Given the description of an element on the screen output the (x, y) to click on. 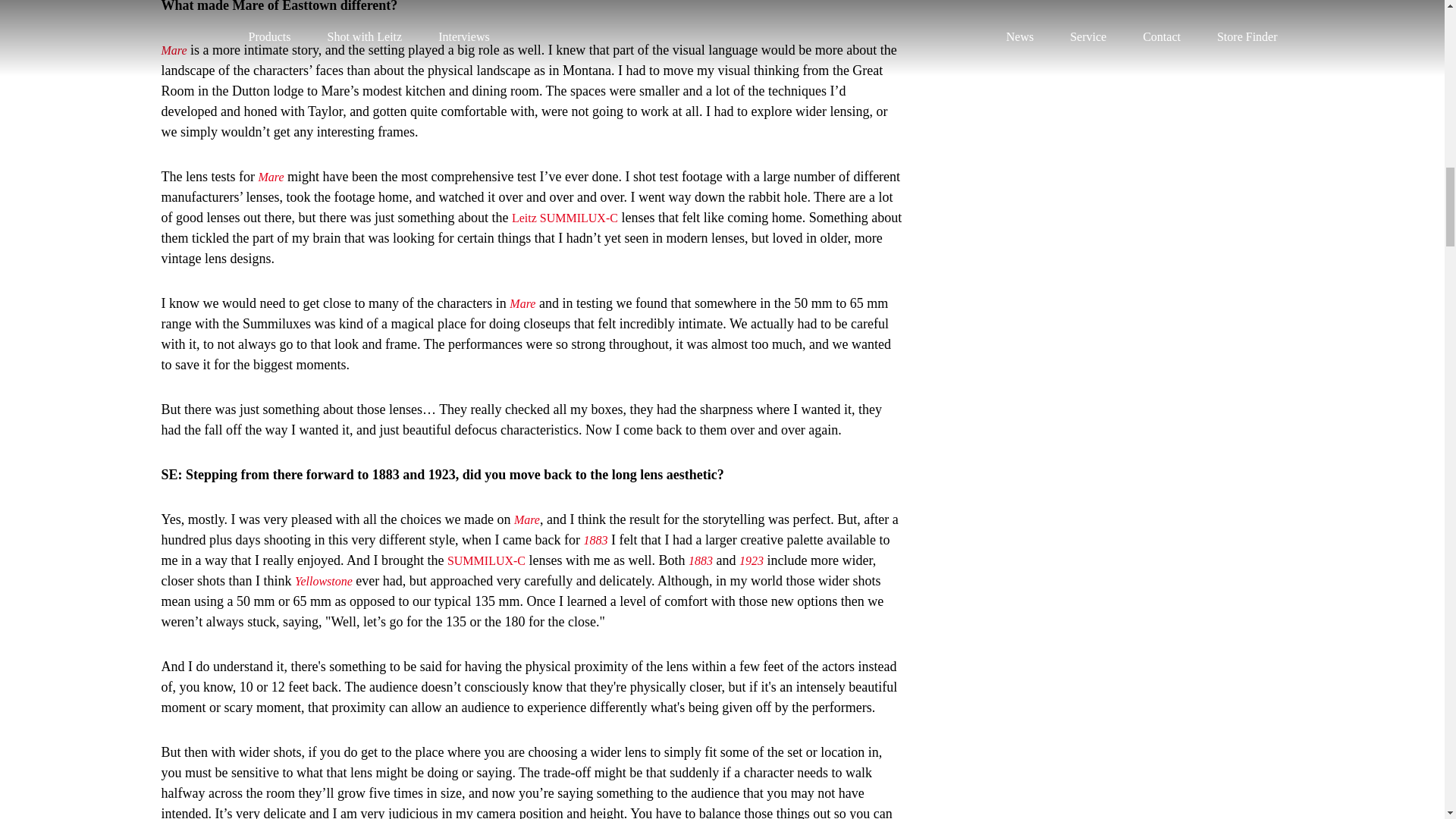
1923 (750, 560)
SUMMILUX-C (485, 560)
1883 (700, 560)
1883 (595, 540)
Mare (526, 519)
Mare (173, 50)
Mare (270, 176)
Mare (522, 303)
Leitz SUMMILUX-C (564, 217)
